Given the description of an element on the screen output the (x, y) to click on. 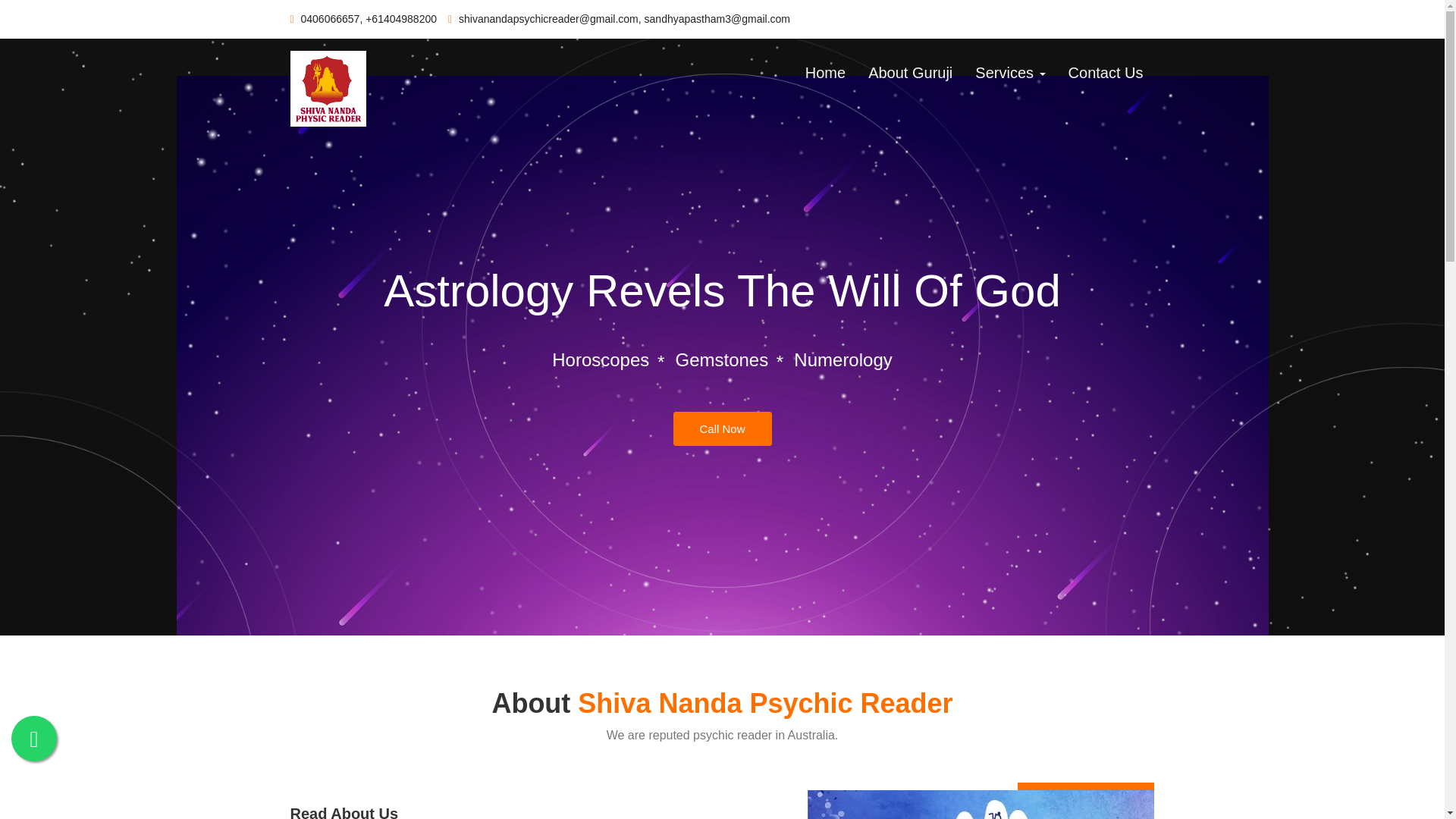
Home (825, 75)
Logo (327, 88)
About Guruji (910, 75)
Services (1010, 75)
Call Now (721, 428)
0406066657 (324, 19)
Contact Us (1105, 75)
